Given the description of an element on the screen output the (x, y) to click on. 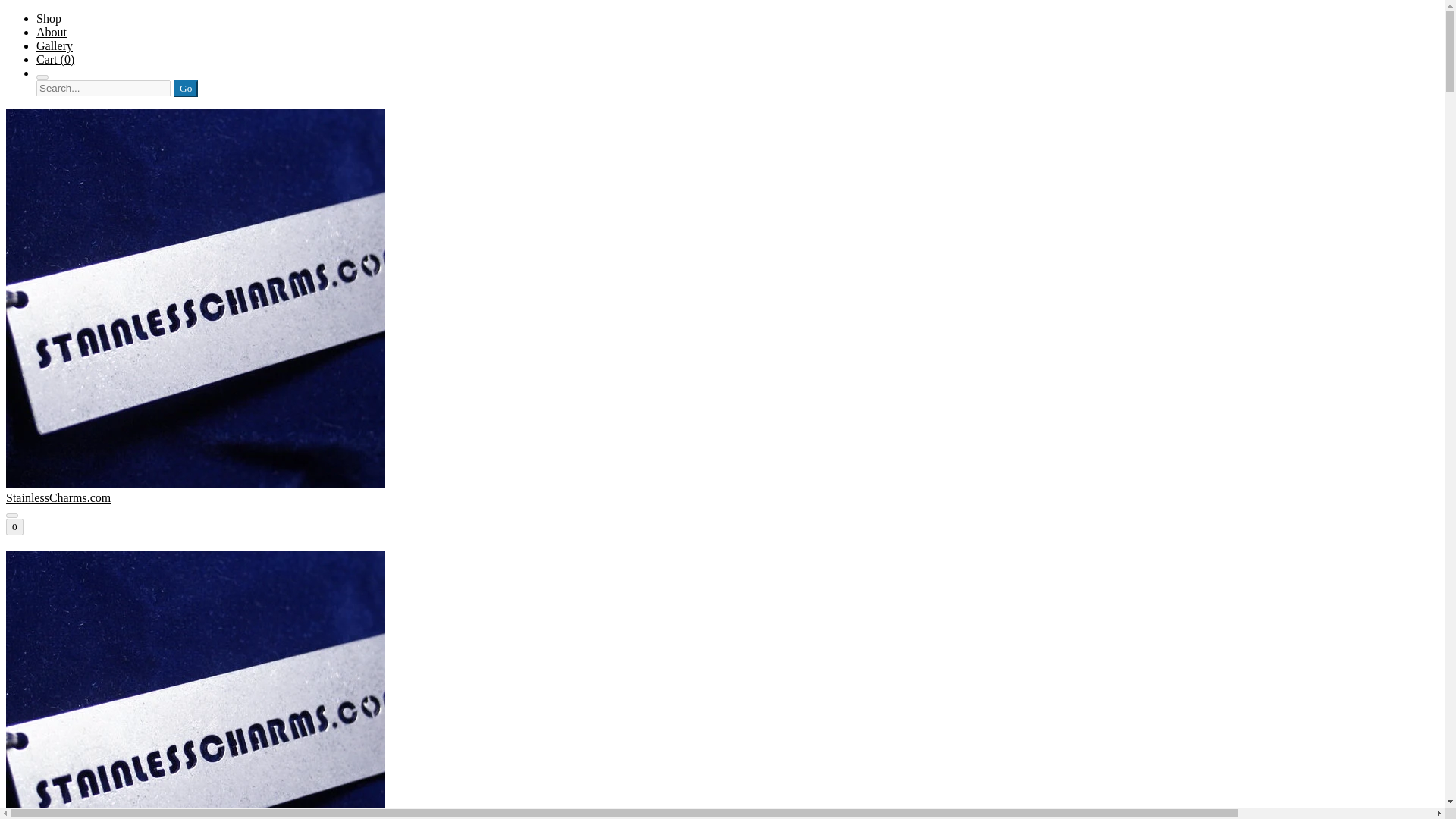
Go (185, 88)
About (51, 31)
Go (185, 88)
0 (14, 526)
Shop (48, 18)
Gallery (54, 45)
